Given the description of an element on the screen output the (x, y) to click on. 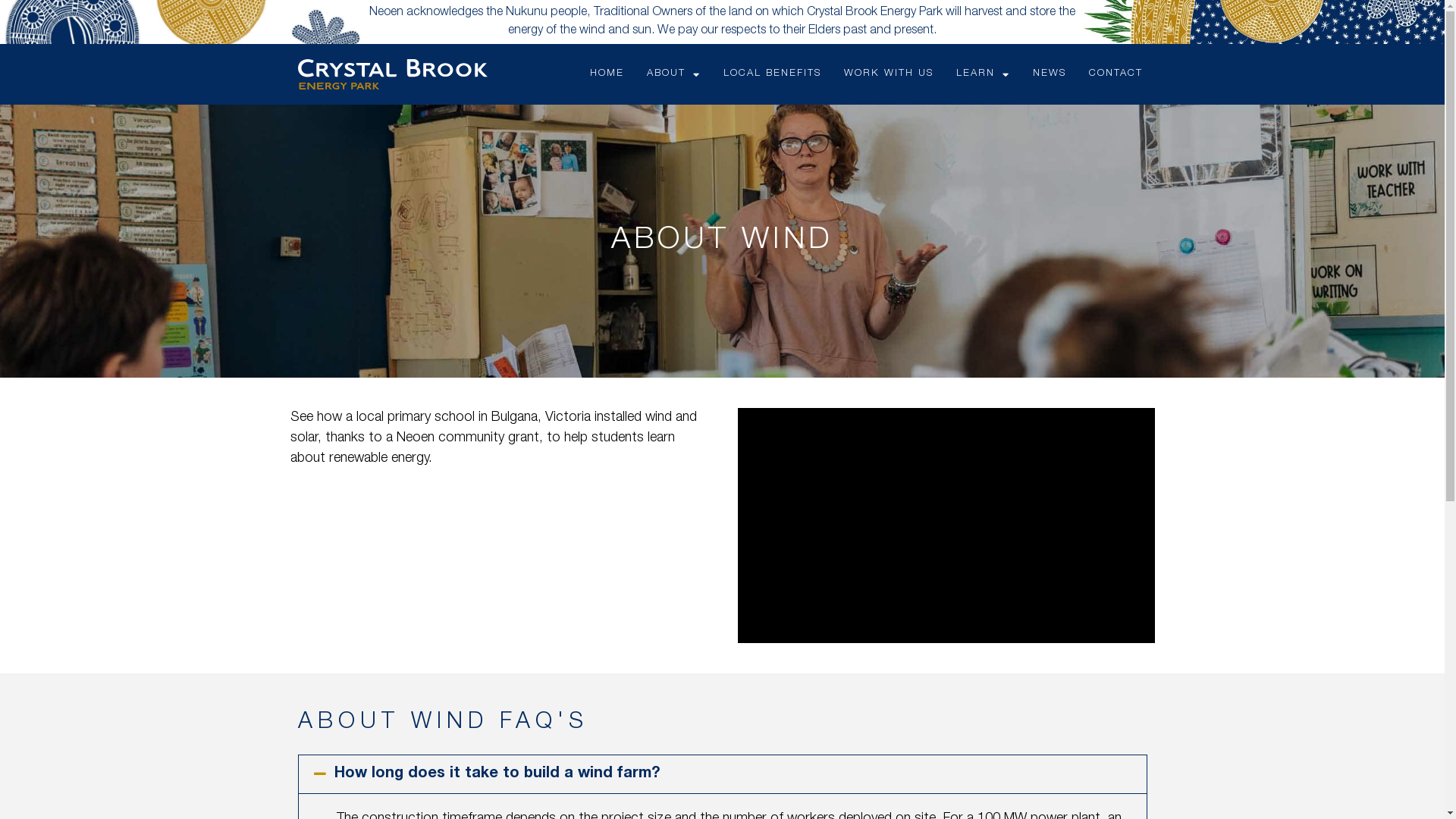
HOME Element type: text (606, 73)
WORK WITH US Element type: text (888, 73)
LEARN Element type: text (982, 73)
LOCAL BENEFITS Element type: text (772, 73)
How long does it take to build a wind farm? Element type: text (495, 773)
NEWS Element type: text (1049, 73)
vimeo Video Player Element type: hover (945, 524)
CONTACT Element type: text (1115, 73)
ABOUT Element type: text (673, 73)
